Given the description of an element on the screen output the (x, y) to click on. 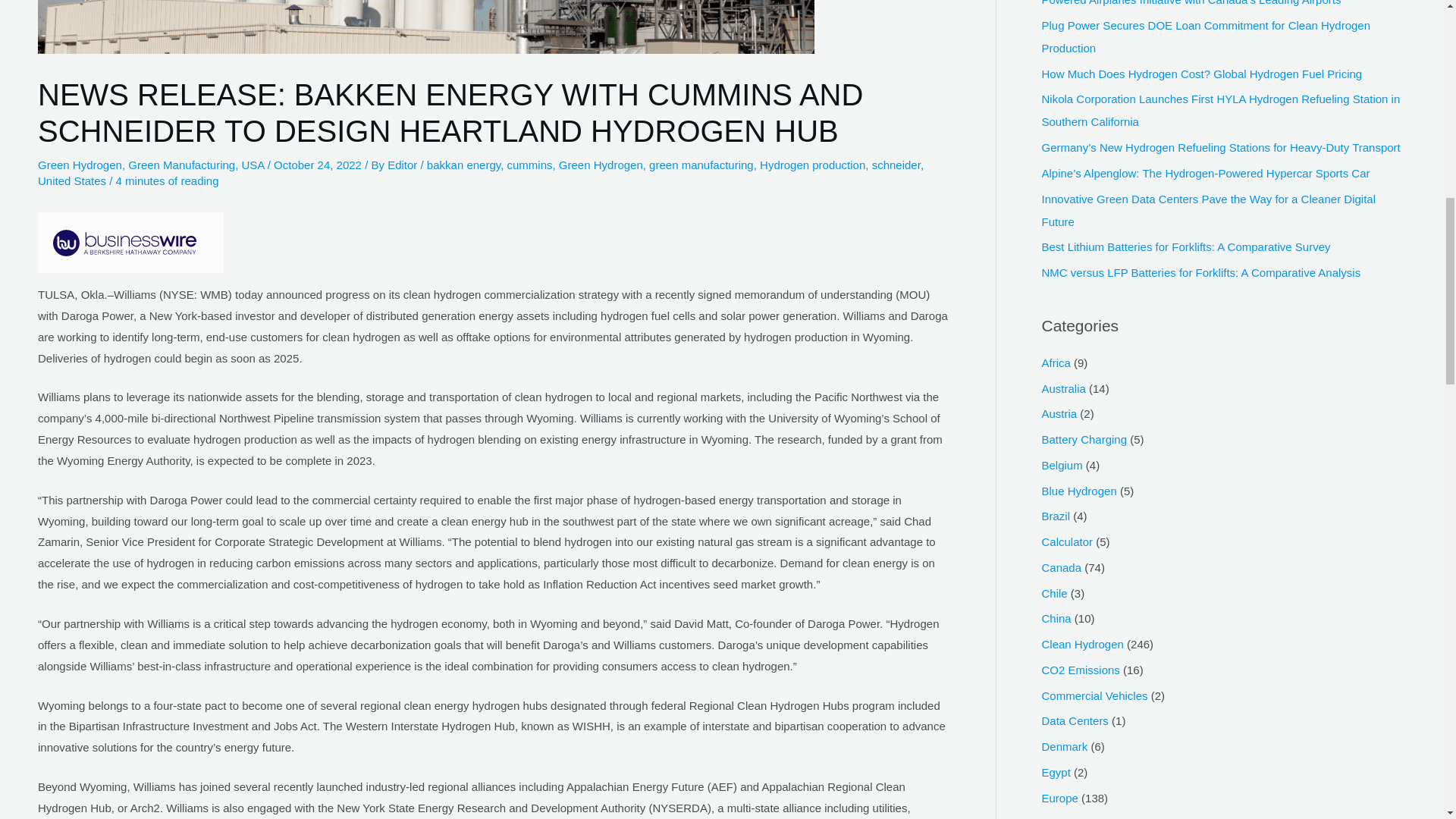
View all posts by Editor (403, 164)
